Given the description of an element on the screen output the (x, y) to click on. 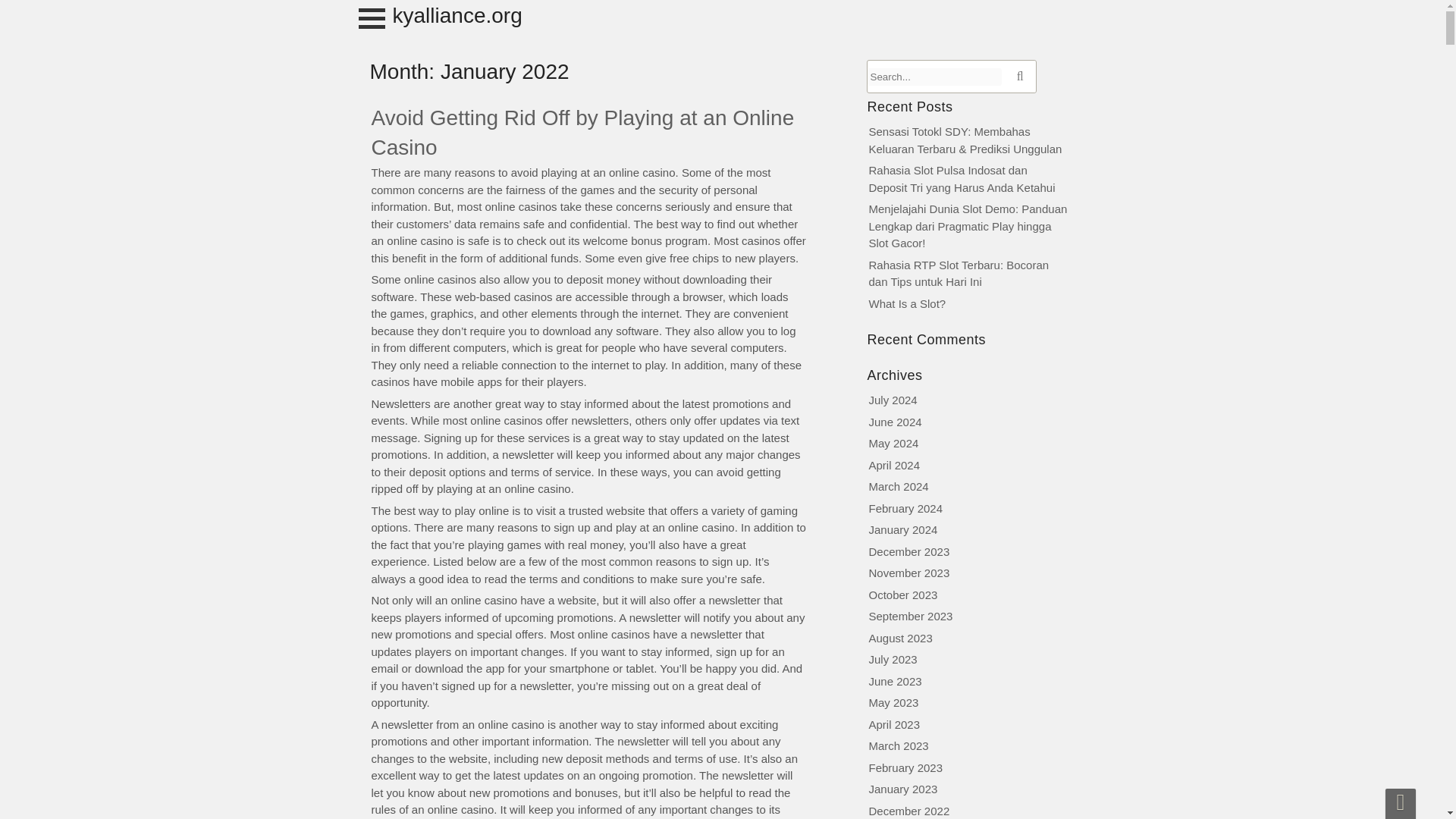
kyalliance.org (457, 15)
Avoid Getting Rid Off by Playing at an Online Casino (582, 132)
Keluaran Sgp (3, 16)
Avoid Getting Rid Off by Playing at an Online Casino (582, 132)
